Given the description of an element on the screen output the (x, y) to click on. 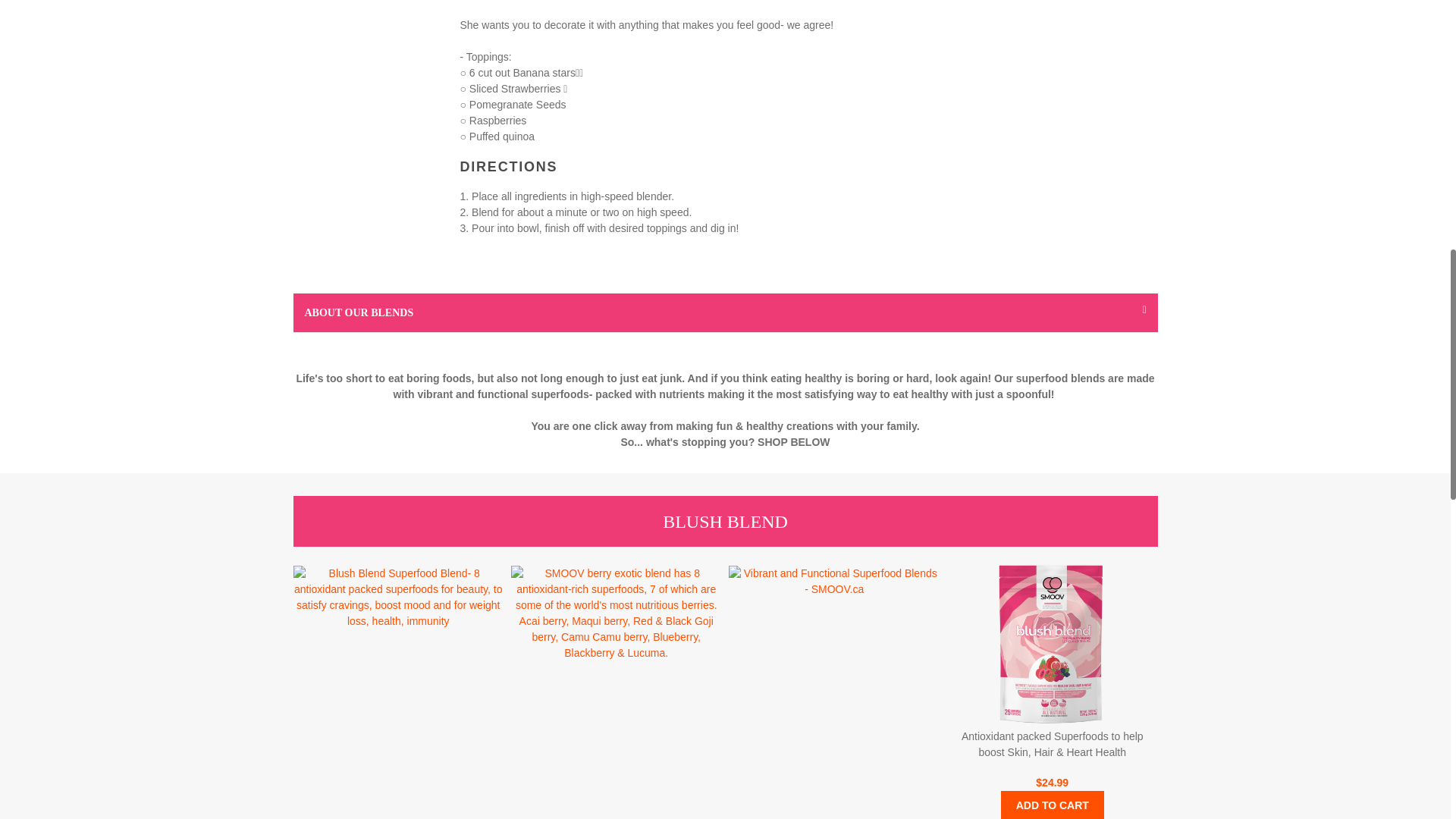
Vibrant and Functional Superfood Blends - SMOOV.ca (834, 581)
